Given the description of an element on the screen output the (x, y) to click on. 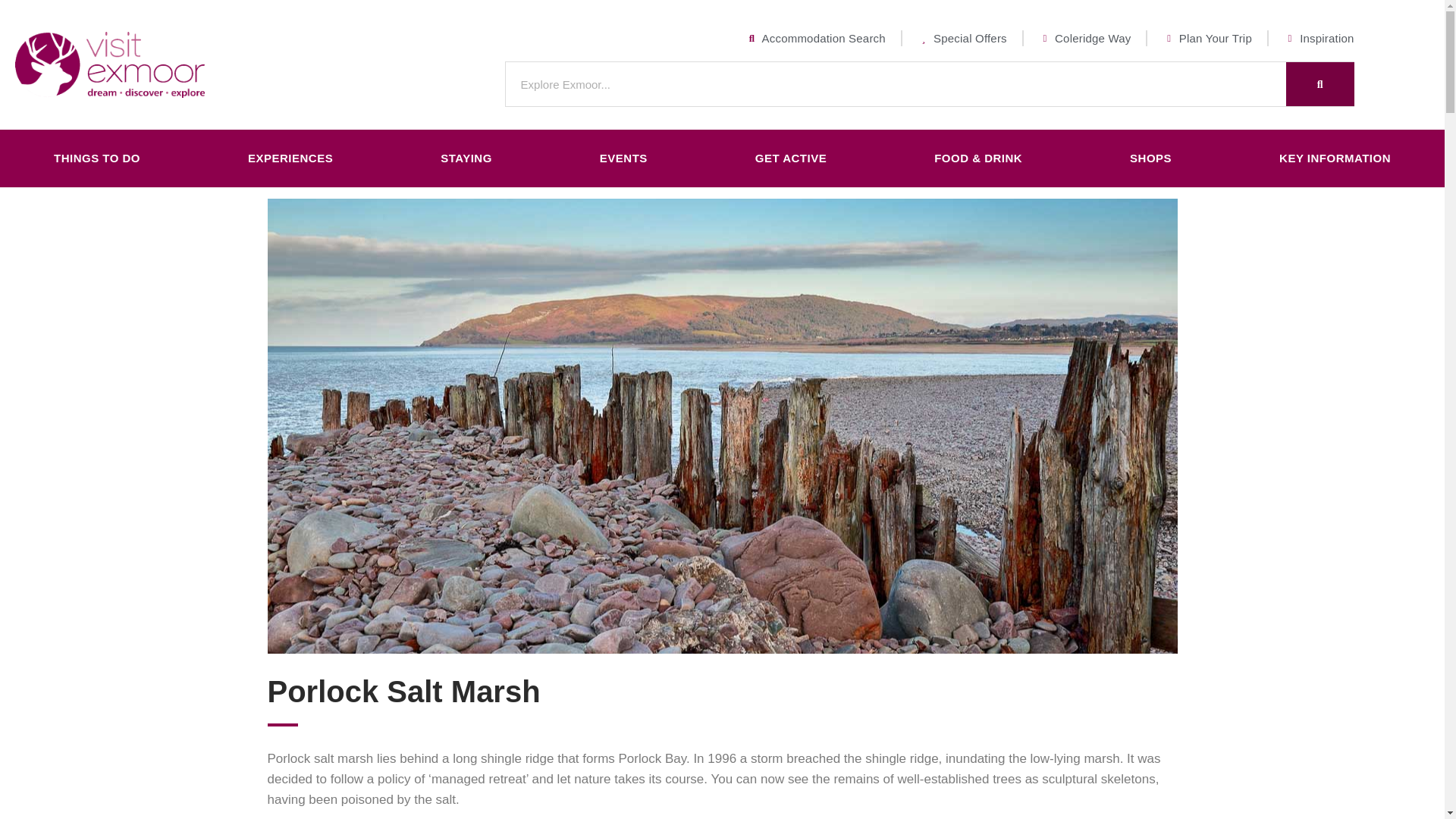
Plan Your Trip (1205, 37)
STAYING (466, 158)
Accommodation Search (815, 37)
GET ACTIVE (790, 158)
Inspiration (1319, 37)
Search (895, 84)
EVENTS (623, 158)
Special Offers (962, 37)
EXPERIENCES (290, 158)
THINGS TO DO (96, 158)
Search (1319, 84)
Coleridge Way (1085, 37)
